Given the description of an element on the screen output the (x, y) to click on. 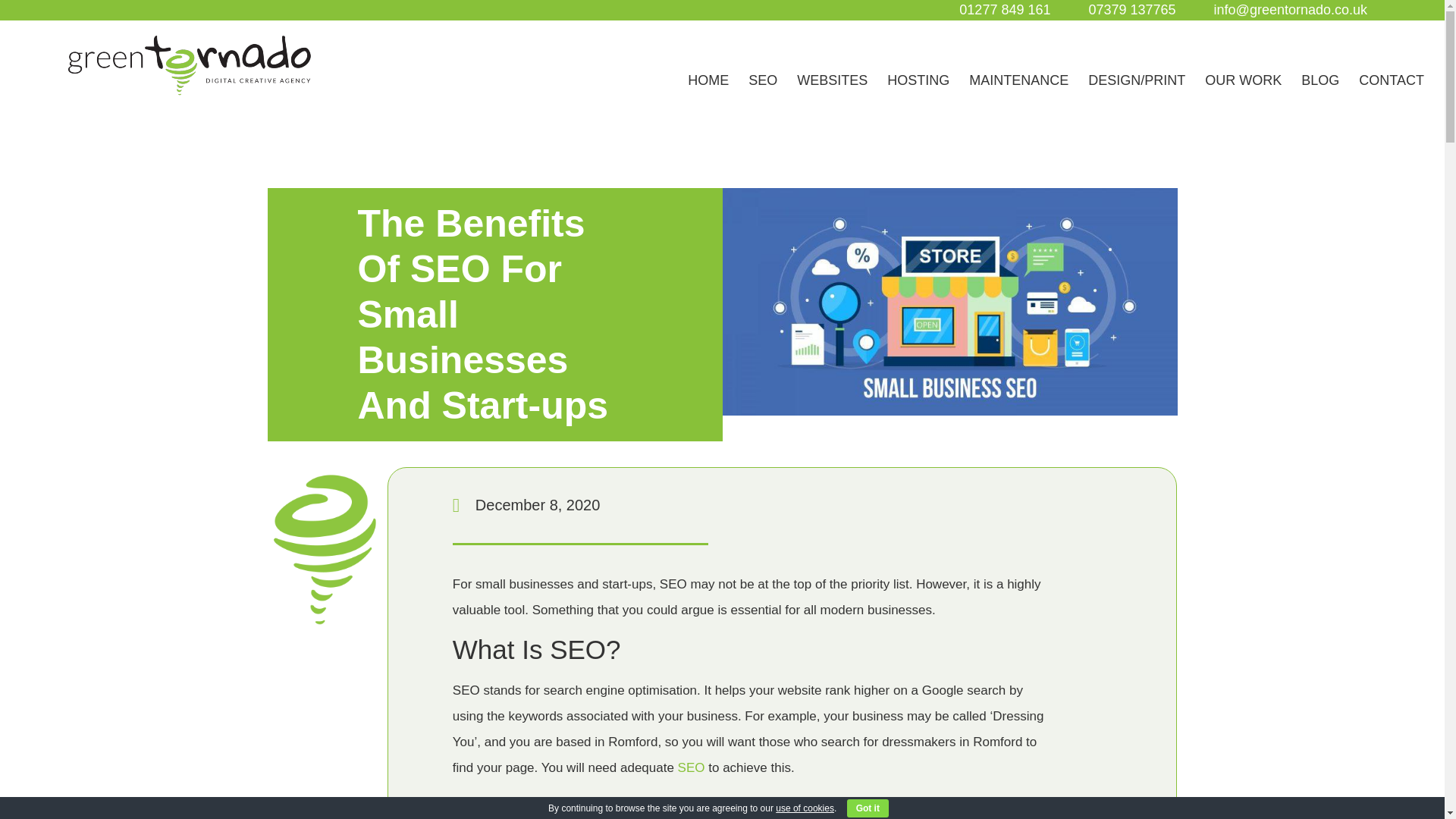
MAINTENANCE (1017, 80)
CONTACT (1391, 80)
01277 849 161 (1004, 10)
SEO (762, 80)
HOSTING (917, 80)
SEO (691, 767)
WEBSITES (832, 80)
BLOG (1320, 80)
07379 137765 (1130, 10)
OUR WORK (1242, 80)
HOME (707, 80)
